Given the description of an element on the screen output the (x, y) to click on. 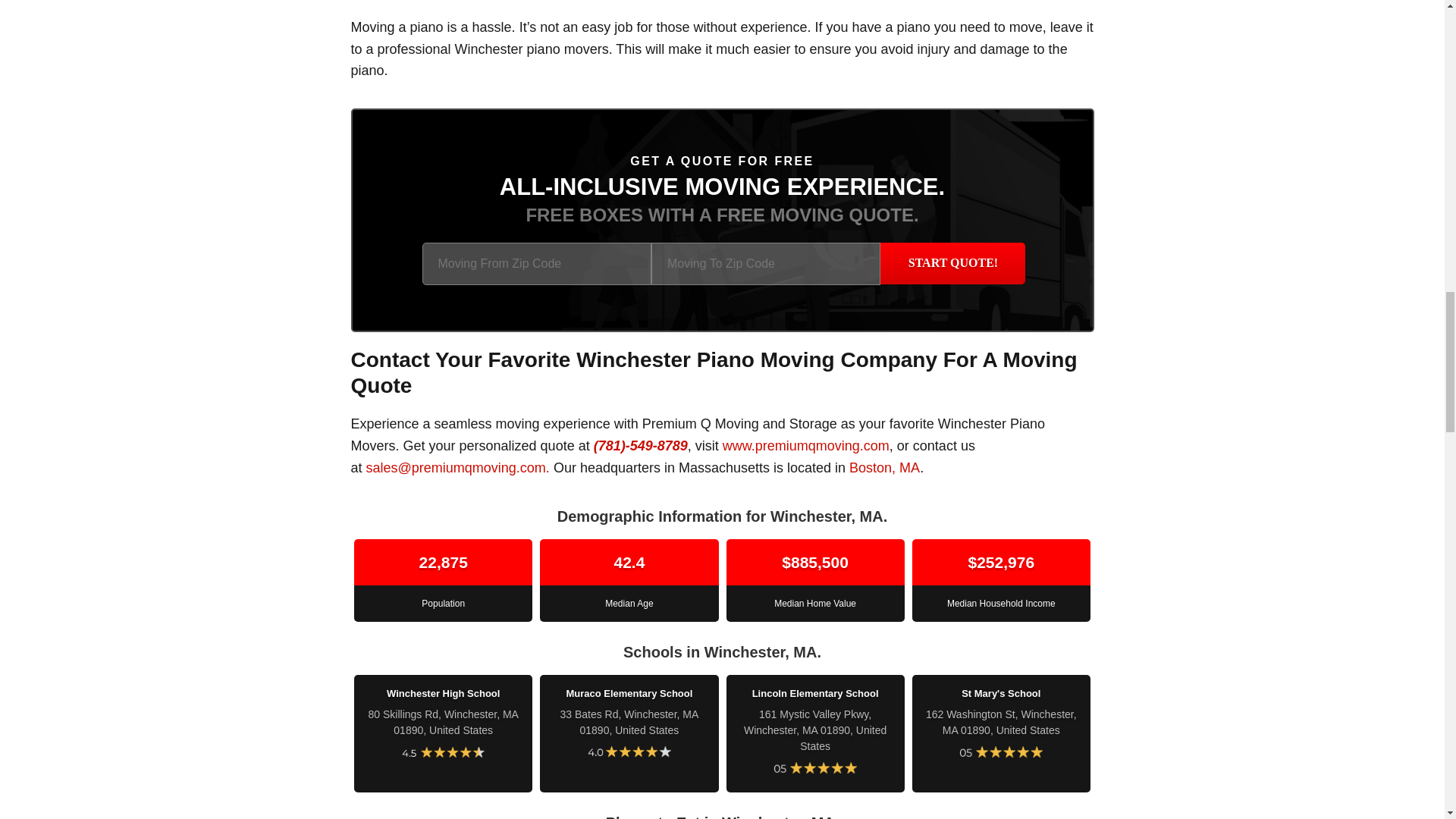
Winchester Piano Movers 3 (442, 752)
Winchester Piano Movers 4 (629, 752)
Winchester Piano Movers 5 (815, 768)
Winchester Piano Movers 5 (1000, 752)
